Given the description of an element on the screen output the (x, y) to click on. 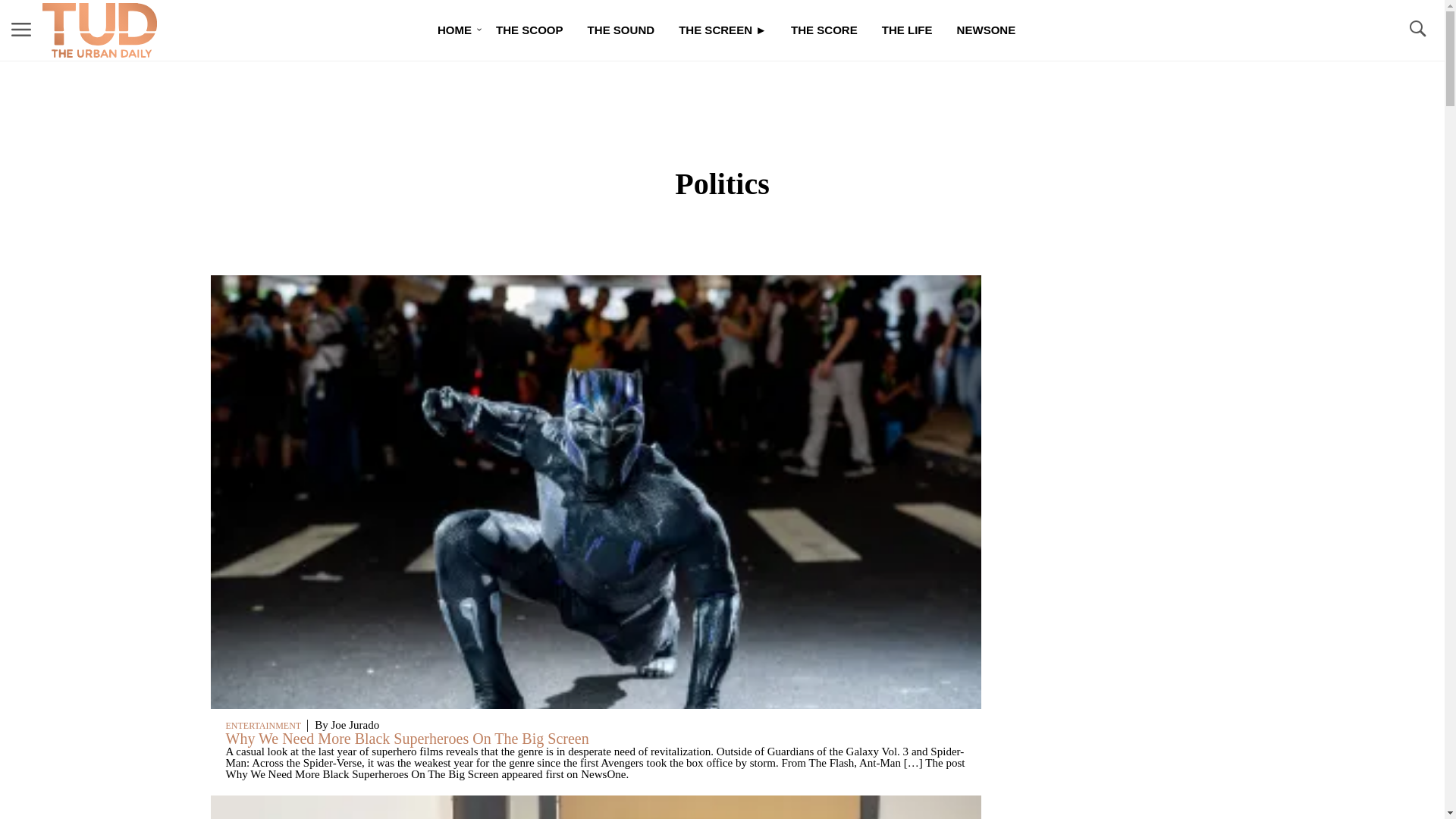
TOGGLE SEARCH (1417, 30)
Why We Need More Black Superheroes On The Big Screen (407, 738)
TOGGLE SEARCH (1417, 28)
MENU (20, 29)
ENTERTAINMENT (263, 725)
HOME (454, 30)
THE SCORE (823, 30)
THE SCOOP (529, 30)
NEWSONE (985, 30)
THE SOUND (620, 30)
THE LIFE (906, 30)
MENU (20, 30)
